Given the description of an element on the screen output the (x, y) to click on. 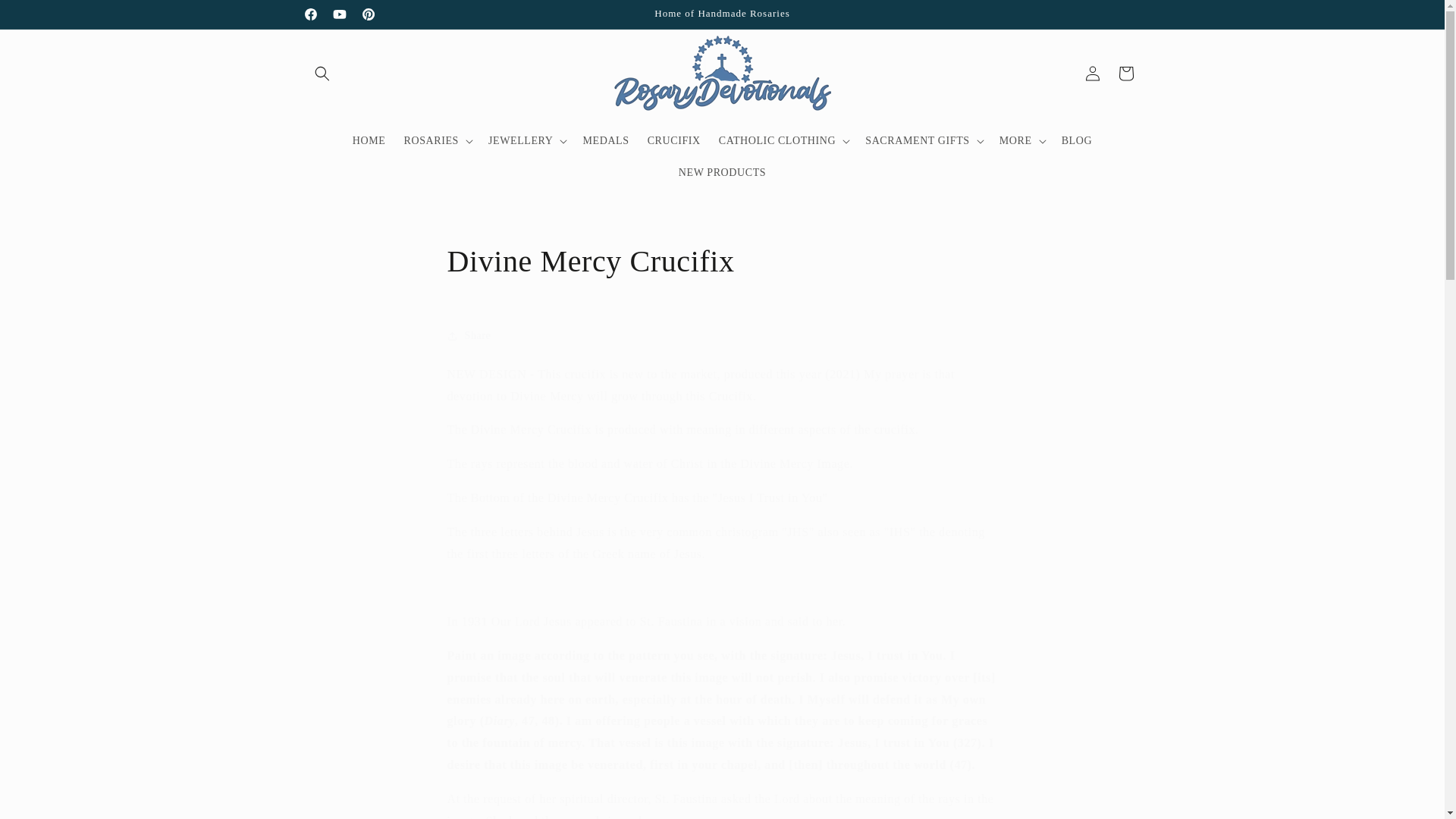
Youtube (338, 14)
Share (721, 335)
Facebook (309, 14)
Pinterest (367, 14)
Divine Mercy Crucifix (721, 261)
